Given the description of an element on the screen output the (x, y) to click on. 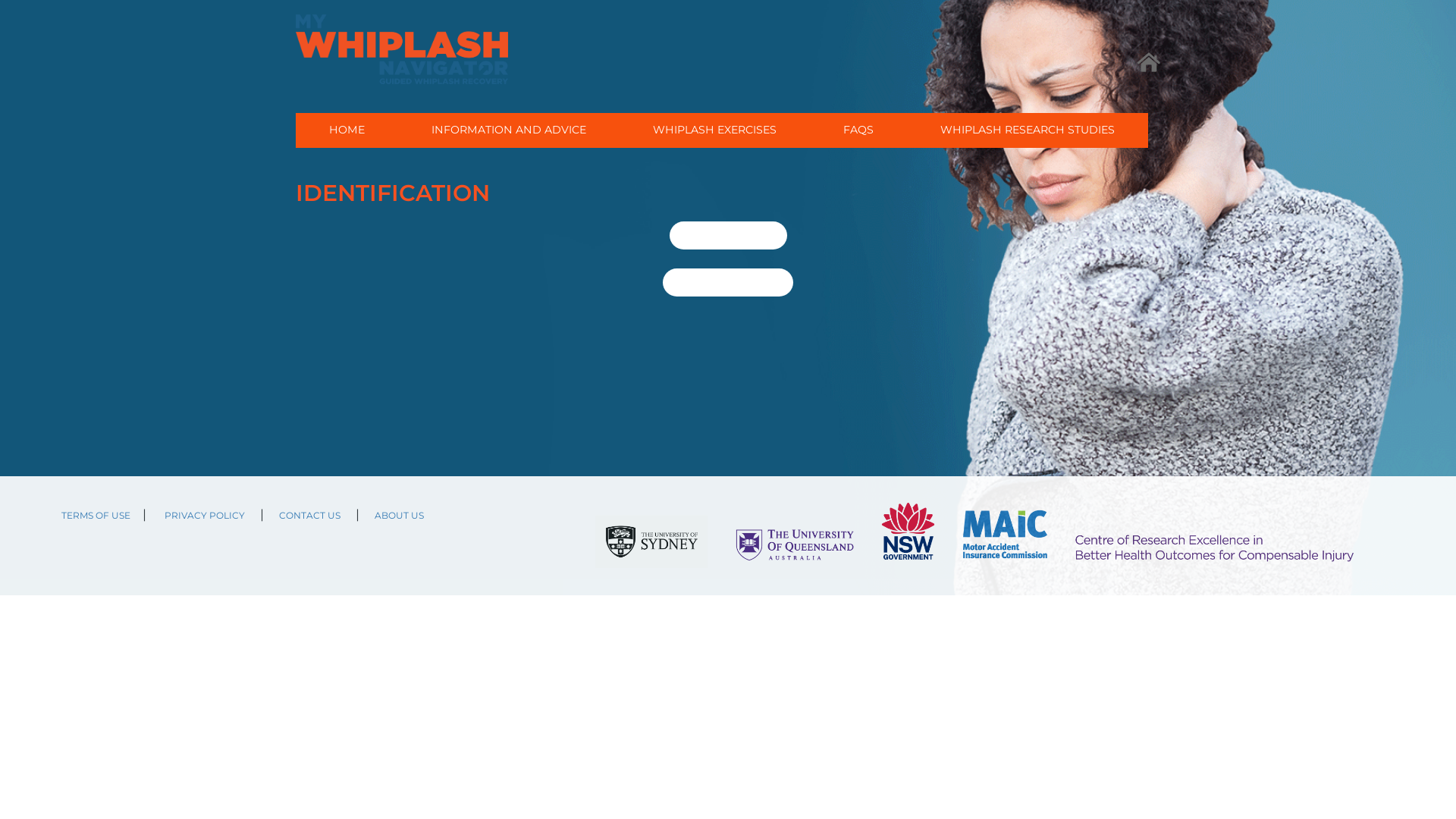
ABOUT US Element type: text (398, 513)
CONTACT US Element type: text (309, 513)
INFORMATION AND ADVICE Element type: text (508, 129)
I AM A PATIENT Element type: text (727, 235)
PRIVACY POLICY Element type: text (204, 513)
WHIPLASH RESEARCH STUDIES Element type: text (1027, 129)
TERMS OF USE Element type: text (95, 513)
FAQS Element type: text (857, 129)
I AM A CLINICIAN Element type: text (727, 282)
HOME Element type: text (346, 129)
WHIPLASH EXERCISES Element type: text (714, 129)
